Given the description of an element on the screen output the (x, y) to click on. 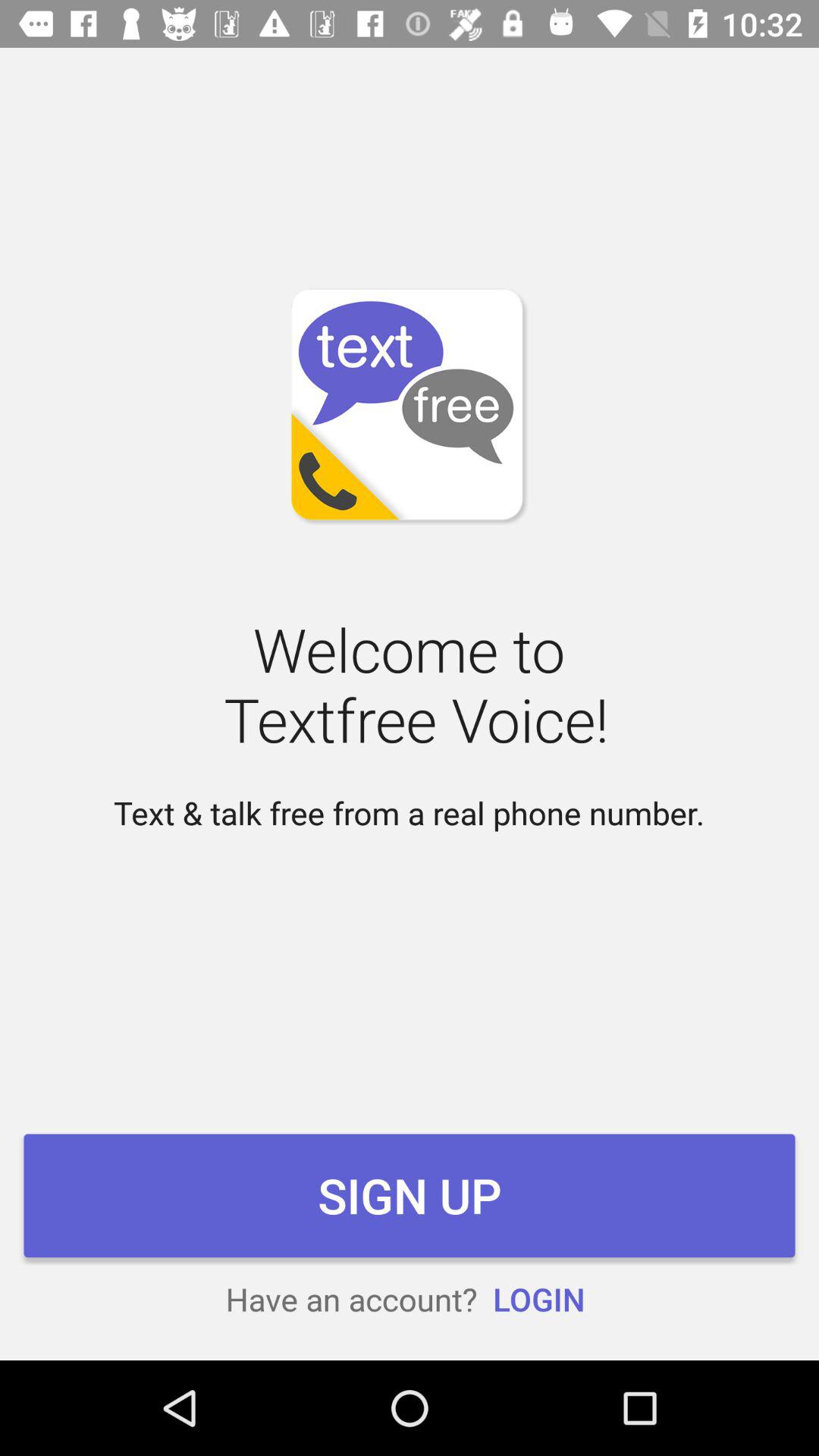
choose sign up item (409, 1195)
